Given the description of an element on the screen output the (x, y) to click on. 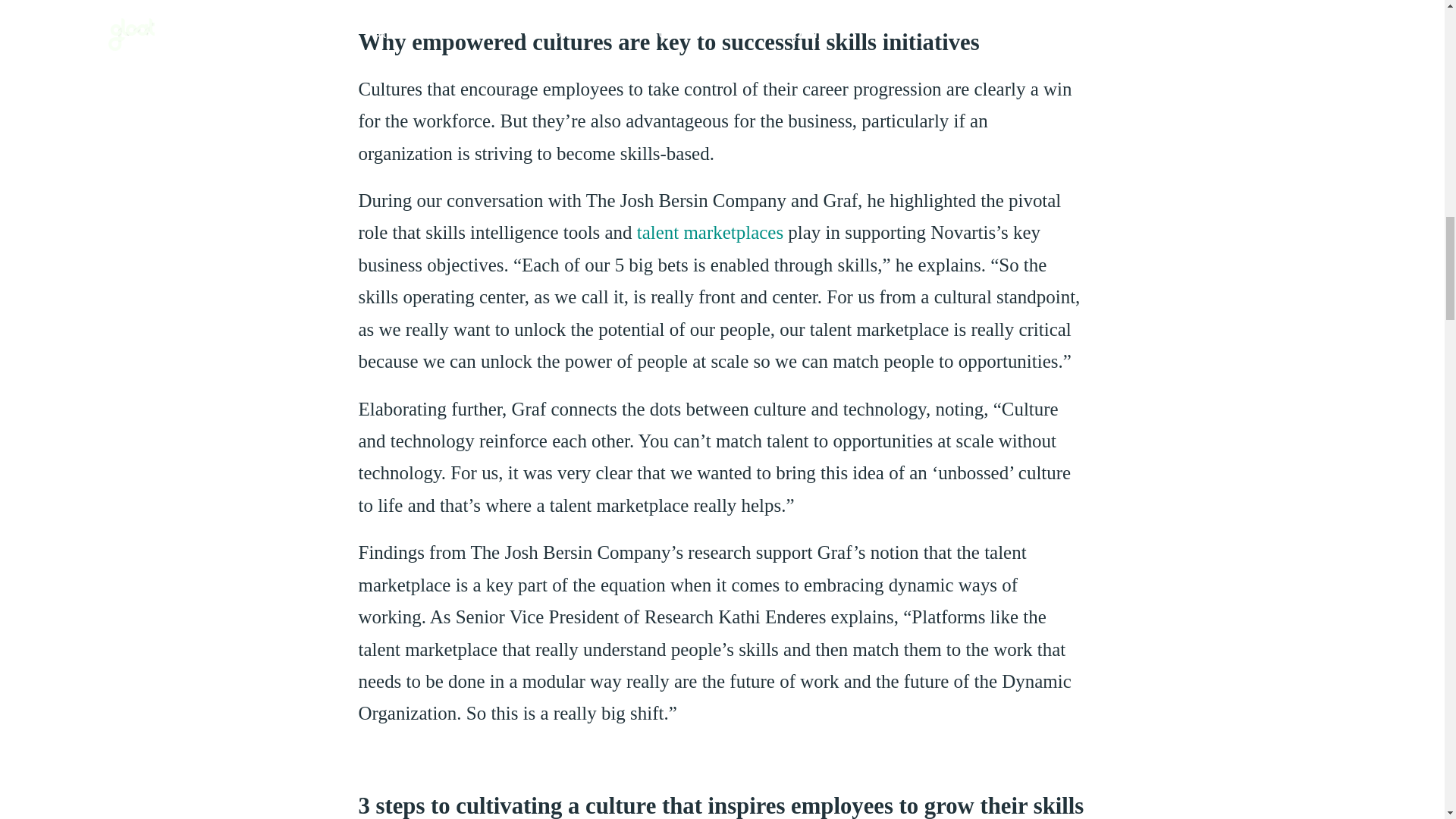
talent marketplaces (710, 231)
